Given the description of an element on the screen output the (x, y) to click on. 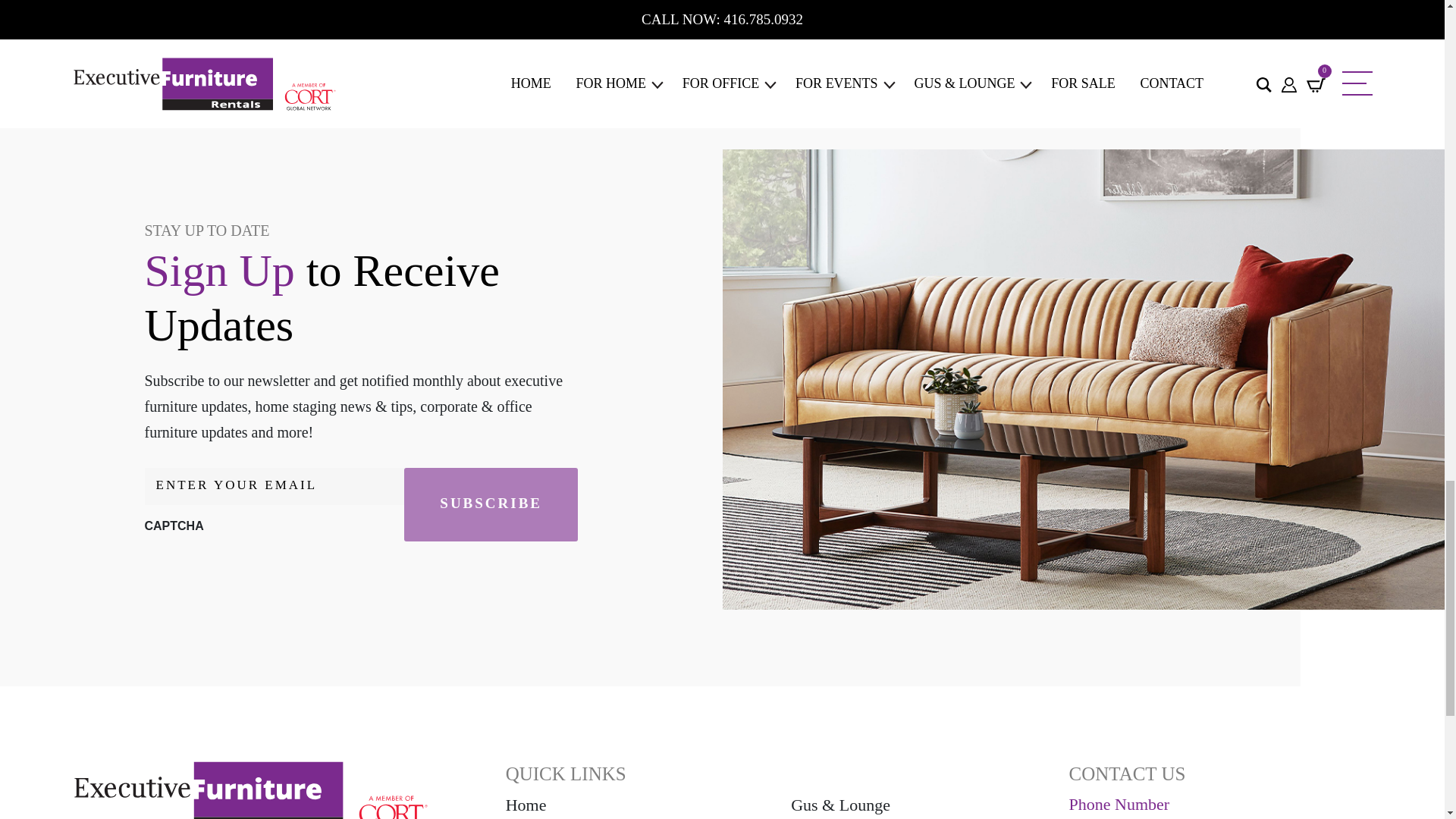
Subscribe (491, 504)
